Given the description of an element on the screen output the (x, y) to click on. 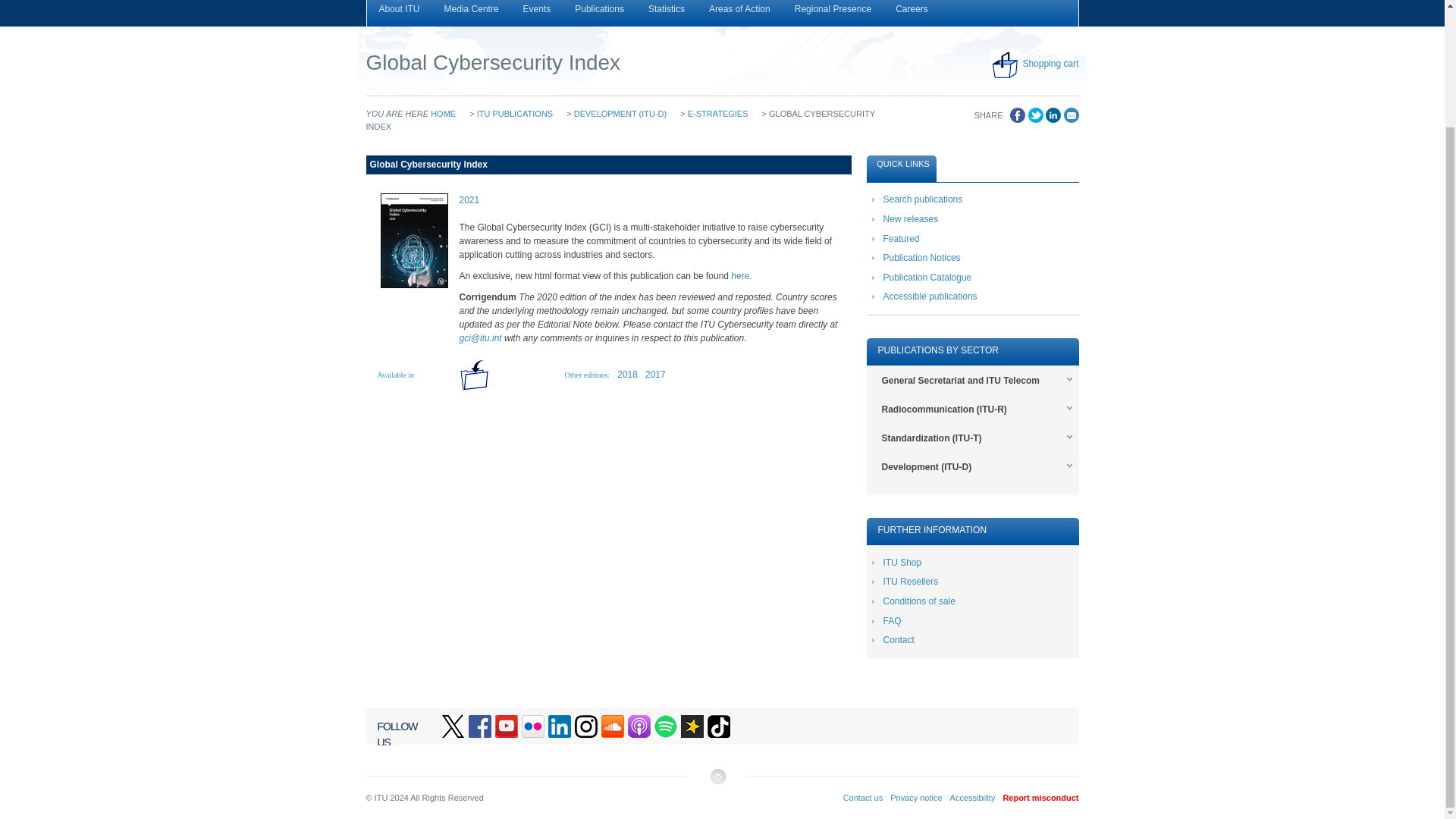
Publications (599, 13)
Areas of Action (740, 13)
About ITU (399, 13)
HOME (442, 112)
Regional Presence (833, 13)
ITU PUBLICATIONS (515, 112)
Media Centre (471, 13)
Shopping cart (1050, 63)
Events (537, 13)
Statistics (666, 13)
Careers (911, 13)
E-STRATEGIES (717, 112)
